Given the description of an element on the screen output the (x, y) to click on. 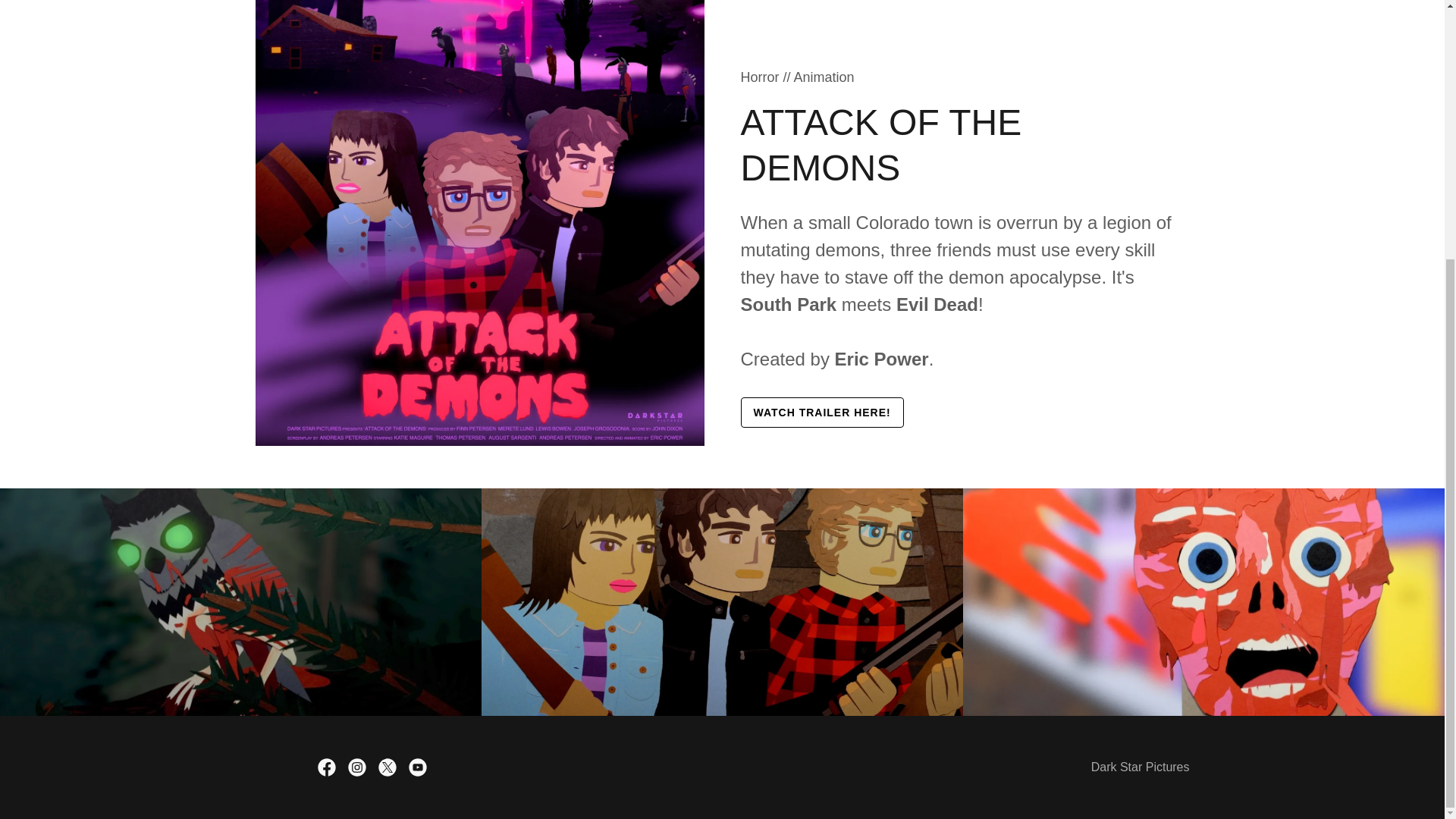
WATCH TRAILER HERE! (820, 412)
